Given the description of an element on the screen output the (x, y) to click on. 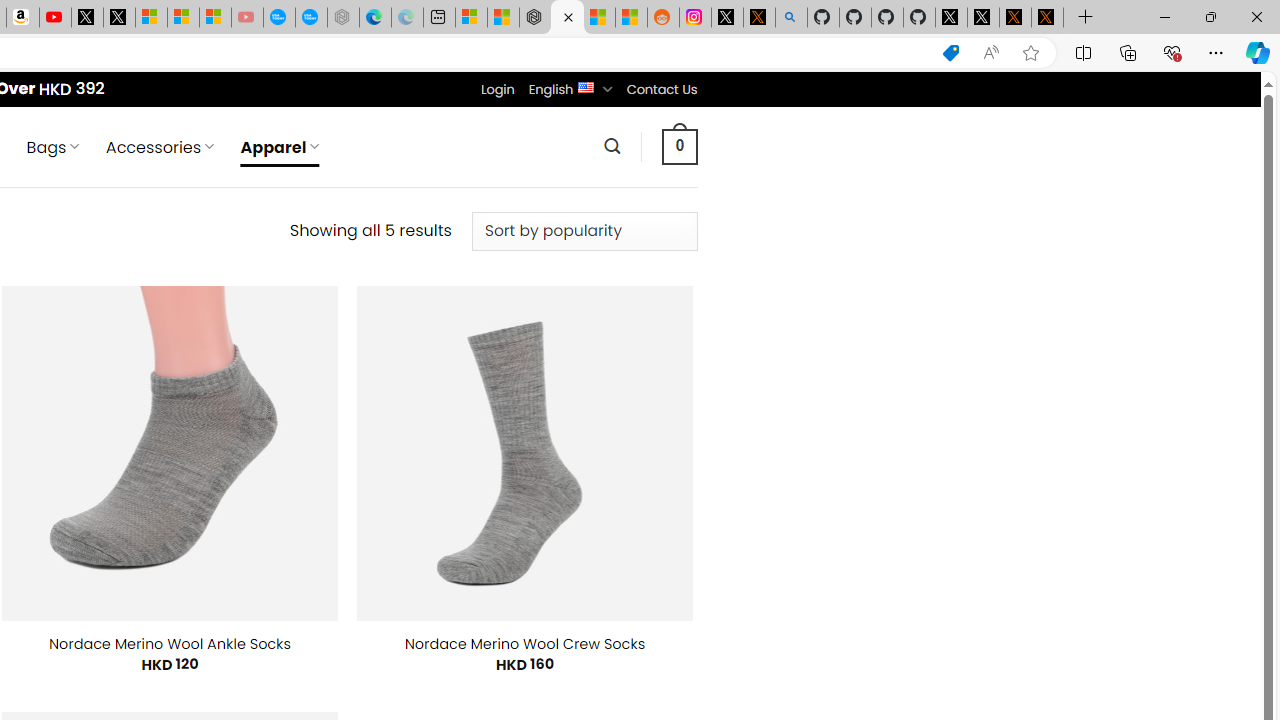
 0  (679, 146)
